Given the description of an element on the screen output the (x, y) to click on. 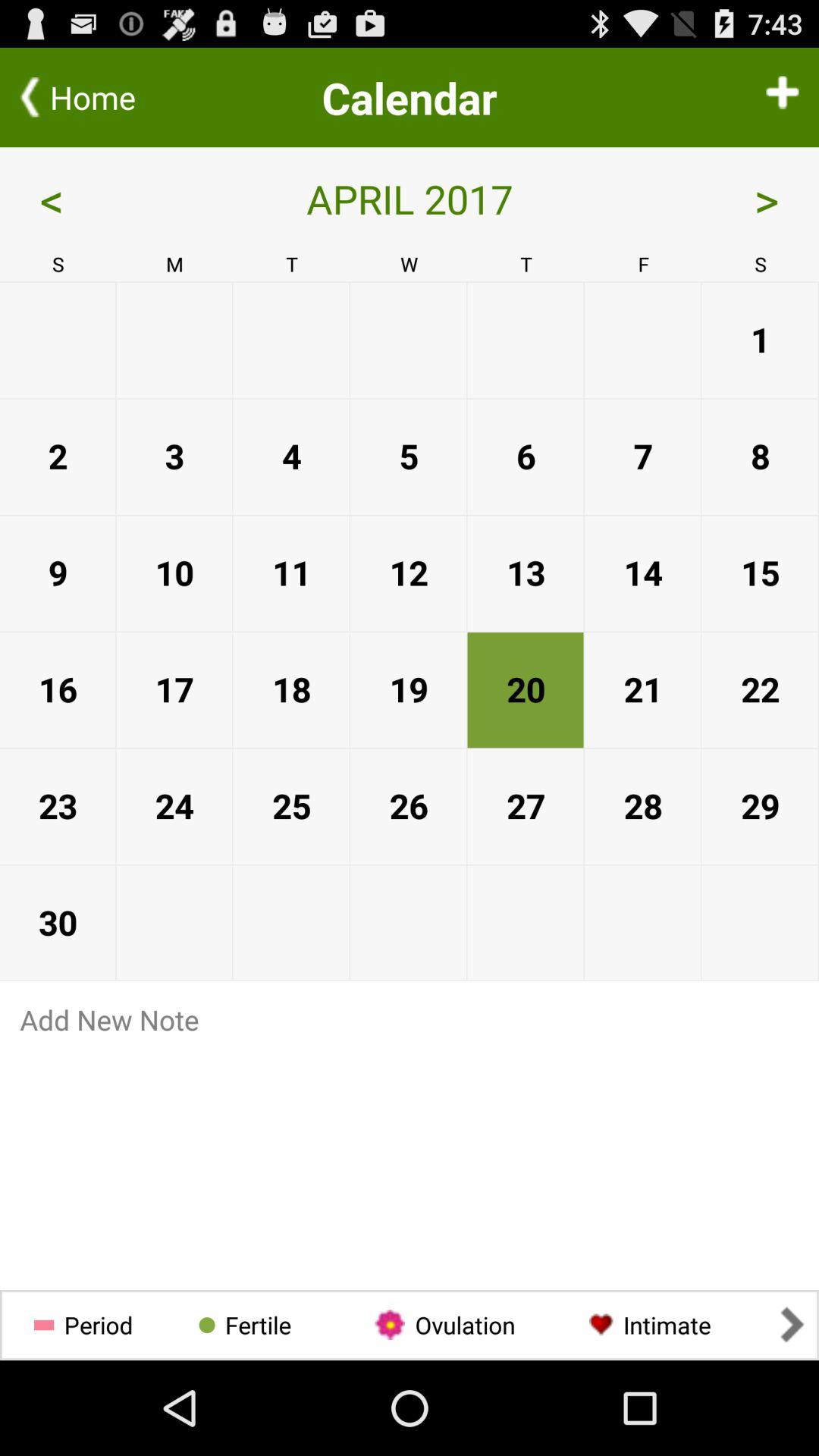
turn on icon next to the april 2017 app (716, 198)
